Given the description of an element on the screen output the (x, y) to click on. 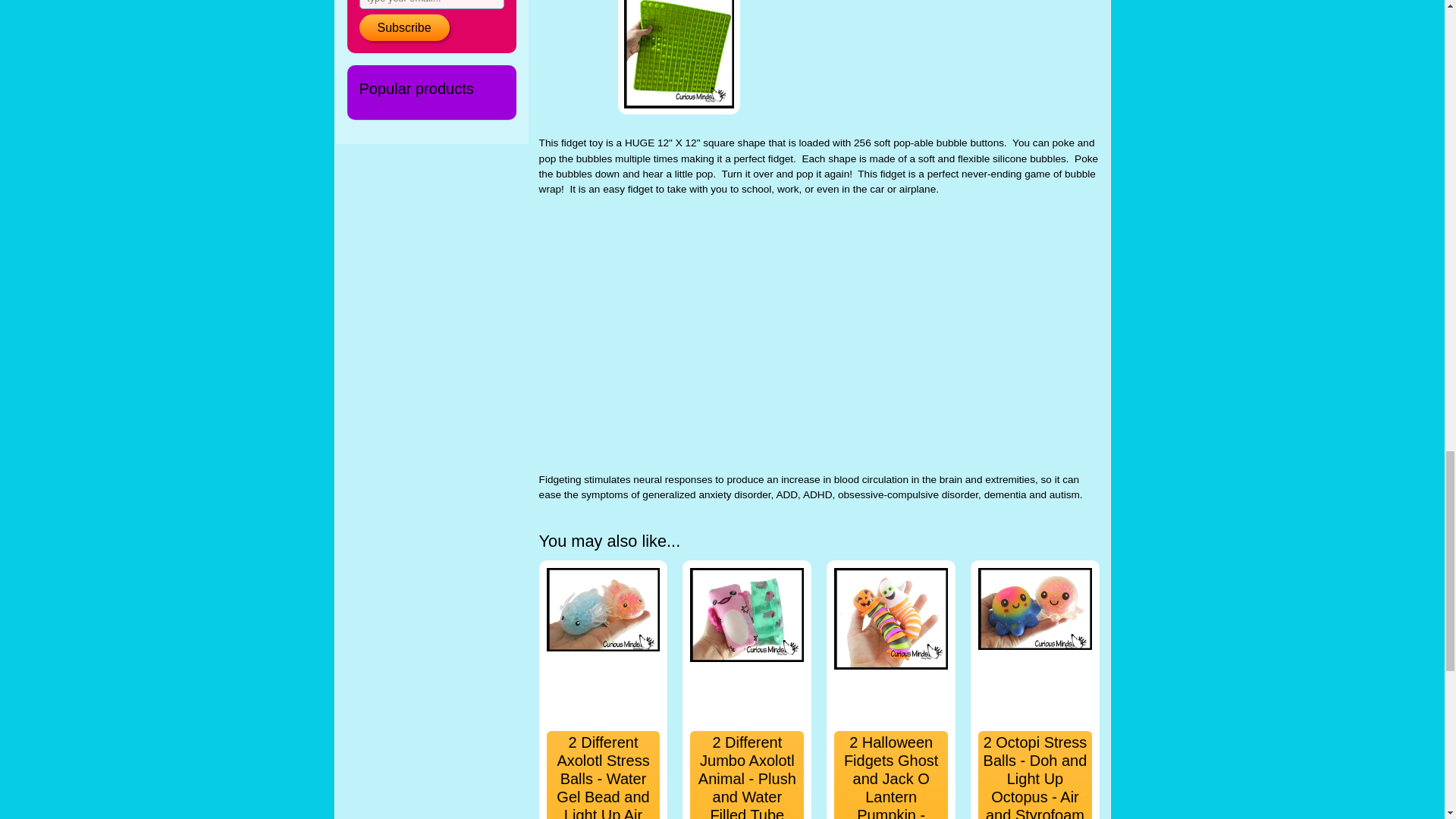
YouTube video player (750, 332)
